Given the description of an element on the screen output the (x, y) to click on. 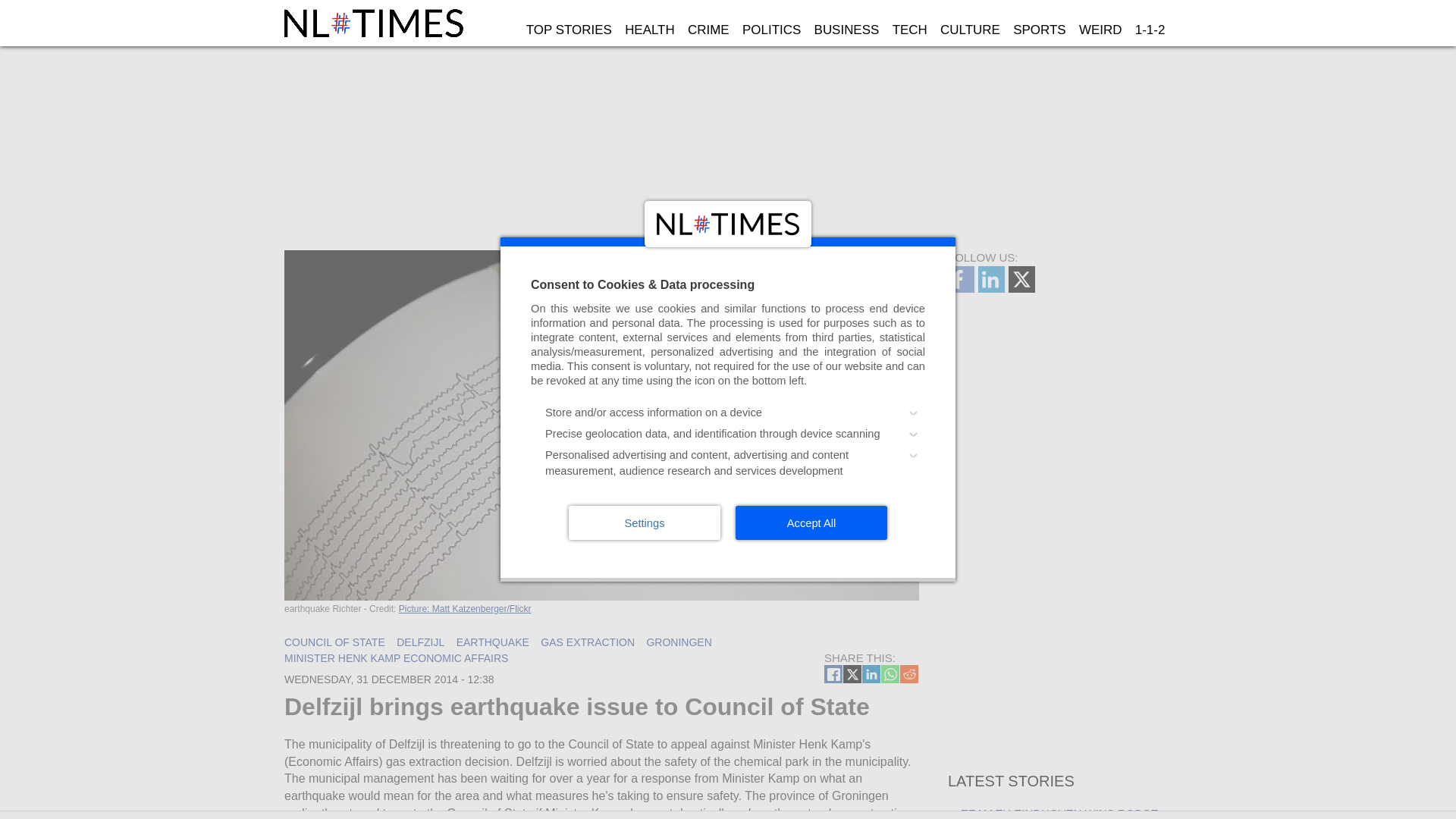
POLITICS (771, 30)
COUNCIL OF STATE (334, 642)
GAS EXTRACTION (587, 642)
Home (375, 22)
WEIRD (1099, 30)
Accept All (810, 522)
EARTHQUAKE (493, 642)
GRONINGEN (678, 642)
WHATSAPP (889, 674)
FACEBOOK (833, 674)
HEALTH (649, 30)
1-1-2 (1150, 30)
Purpose (727, 443)
REDDIT (908, 674)
CRIME (708, 30)
